Given the description of an element on the screen output the (x, y) to click on. 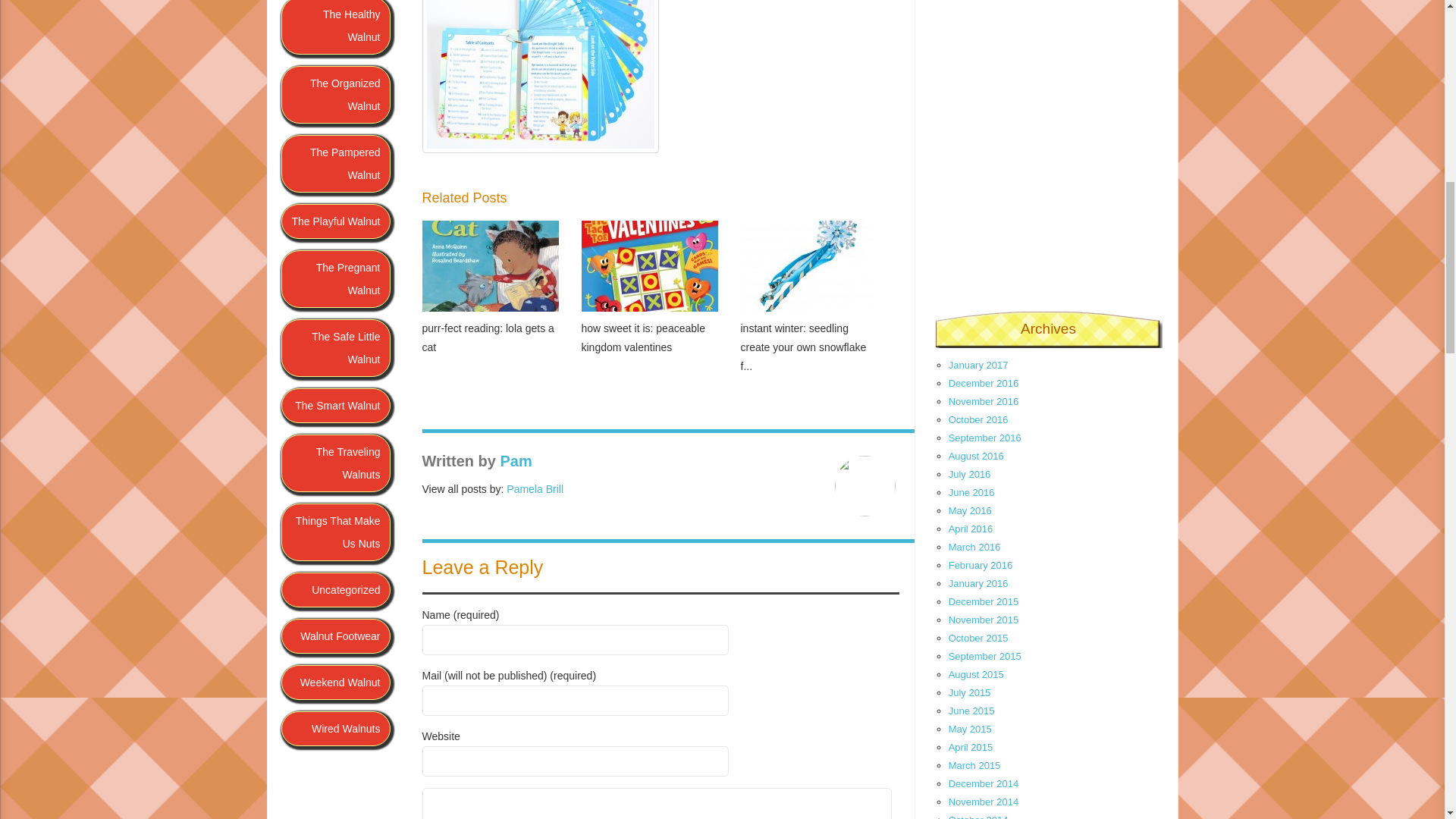
Things That Make Us Nuts (335, 532)
Wired Walnuts (335, 728)
The Playful Walnut (335, 221)
Posts by Pamela Brill (534, 489)
The Traveling Walnuts (335, 463)
Weekend Walnut (335, 682)
Walnut Footwear (335, 636)
Uncategorized (335, 589)
The Organized Walnut (335, 94)
The Pregnant Walnut (335, 278)
